Given the description of an element on the screen output the (x, y) to click on. 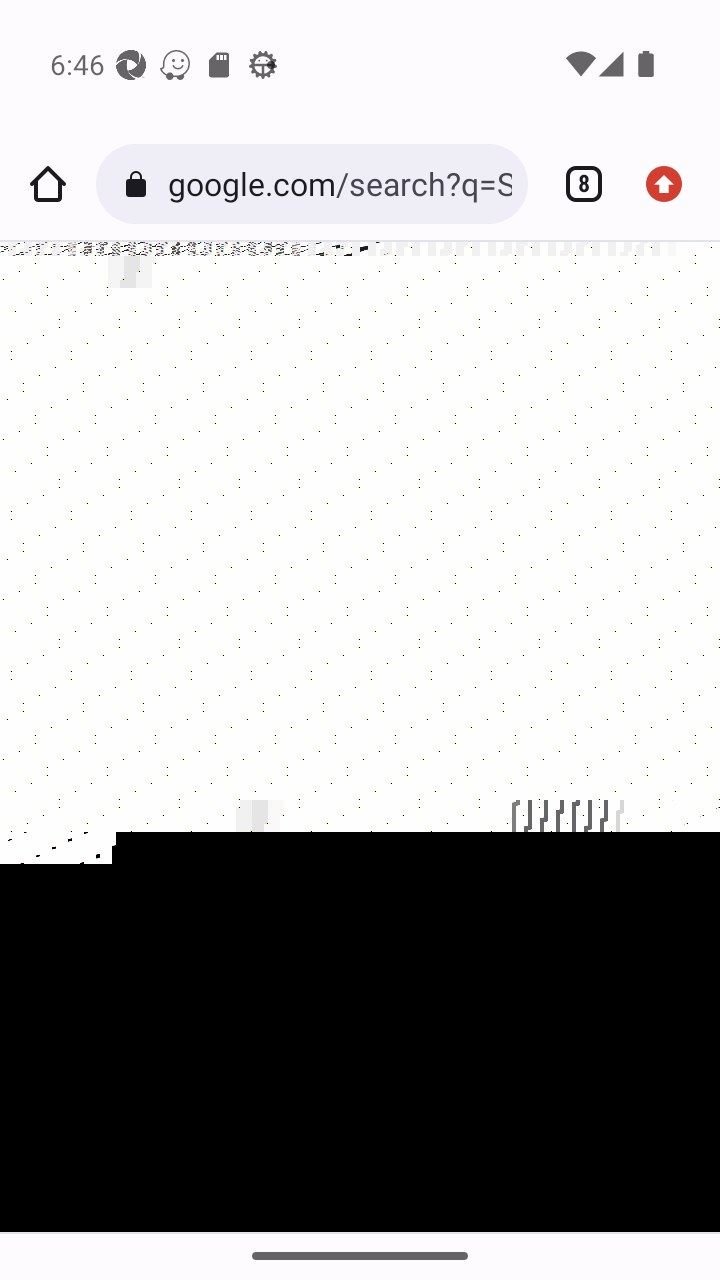
Home (47, 184)
Connection is secure (139, 184)
Switch or close tabs (575, 184)
Update available. More options (672, 184)
